Given the description of an element on the screen output the (x, y) to click on. 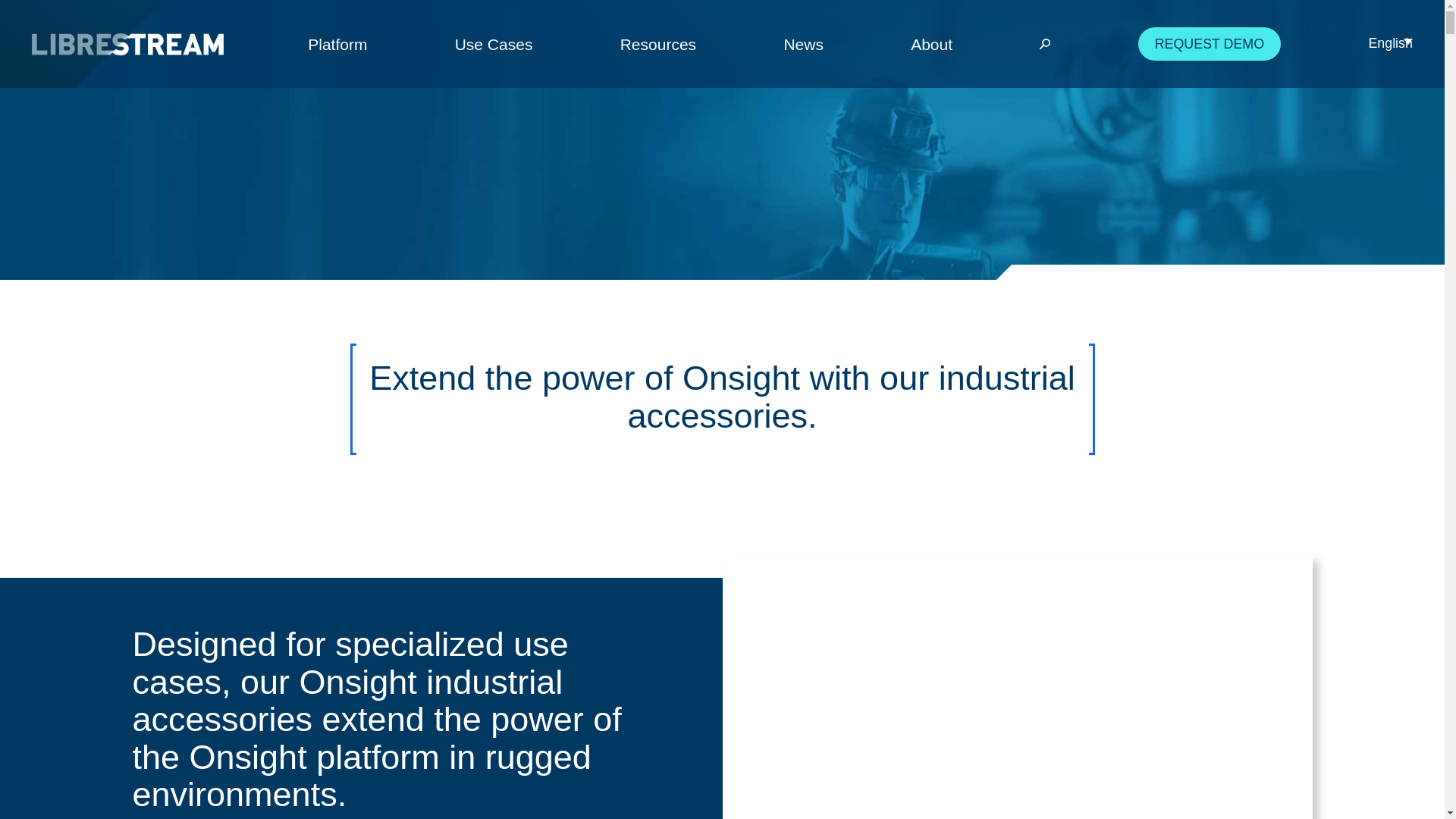
Platform (336, 44)
Search (1017, 44)
Use Cases (493, 44)
About (931, 44)
English (1390, 43)
REQUEST DEMO (1209, 43)
News (803, 44)
Resources (657, 44)
